Given the description of an element on the screen output the (x, y) to click on. 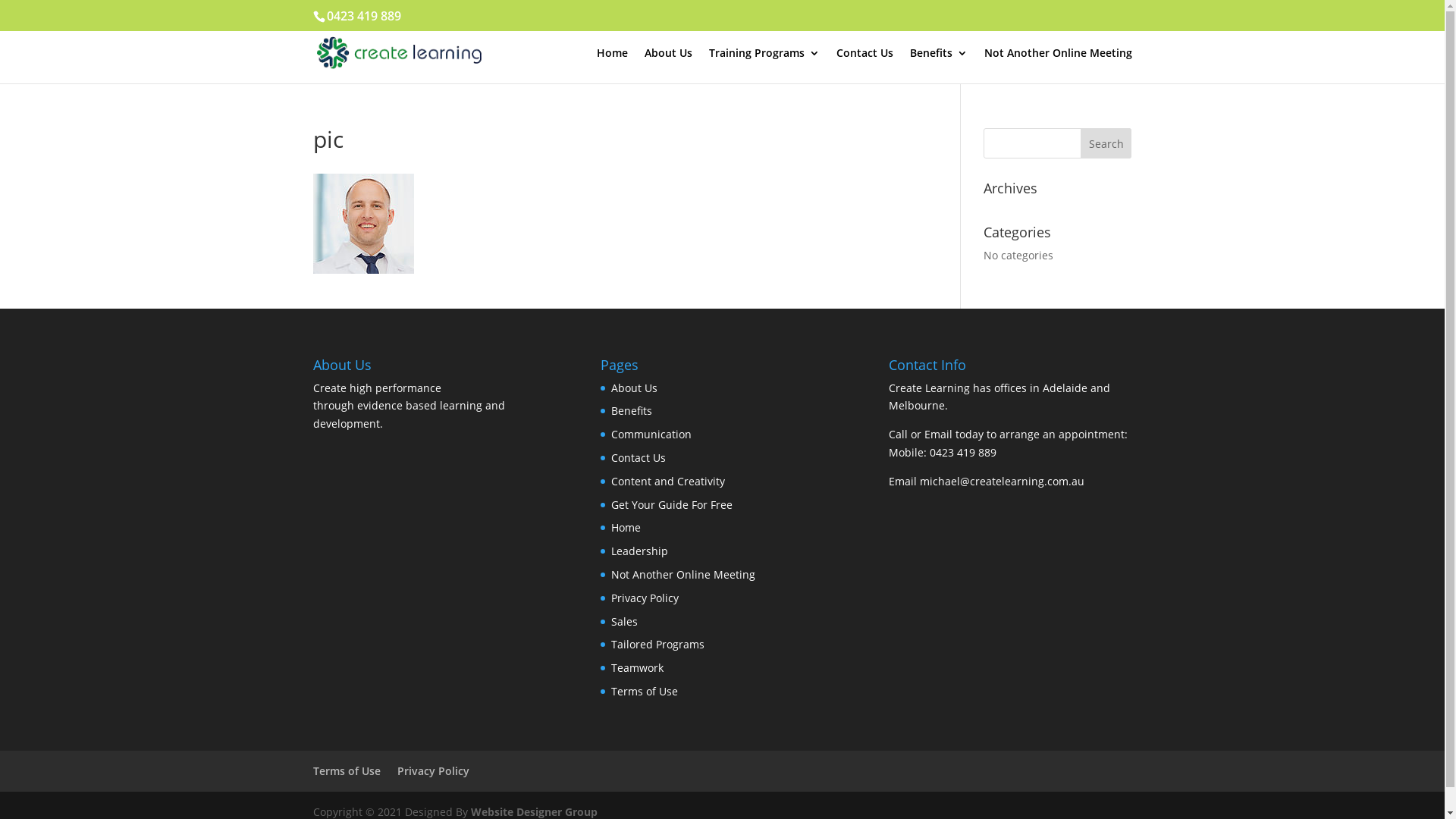
Leadership Element type: text (639, 550)
michael@createlearning.com.au Element type: text (1001, 480)
Tailored Programs Element type: text (657, 644)
Privacy Policy Element type: text (644, 597)
Contact Us Element type: text (638, 457)
Home Element type: text (611, 65)
Contact Us Element type: text (863, 65)
Sales Element type: text (624, 621)
Home Element type: text (625, 527)
Benefits Element type: text (938, 65)
Benefits Element type: text (631, 410)
Training Programs Element type: text (763, 65)
Get Your Guide For Free Element type: text (671, 504)
Terms of Use Element type: text (644, 691)
Terms of Use Element type: text (345, 770)
About Us Element type: text (668, 65)
Search Element type: text (1106, 143)
0423 419 889 Element type: text (962, 452)
About Us Element type: text (634, 387)
Privacy Policy Element type: text (433, 770)
Not Another Online Meeting Element type: text (683, 574)
Content and Creativity Element type: text (667, 480)
Teamwork Element type: text (637, 667)
Not Another Online Meeting Element type: text (1058, 65)
Communication Element type: text (651, 433)
